Given the description of an element on the screen output the (x, y) to click on. 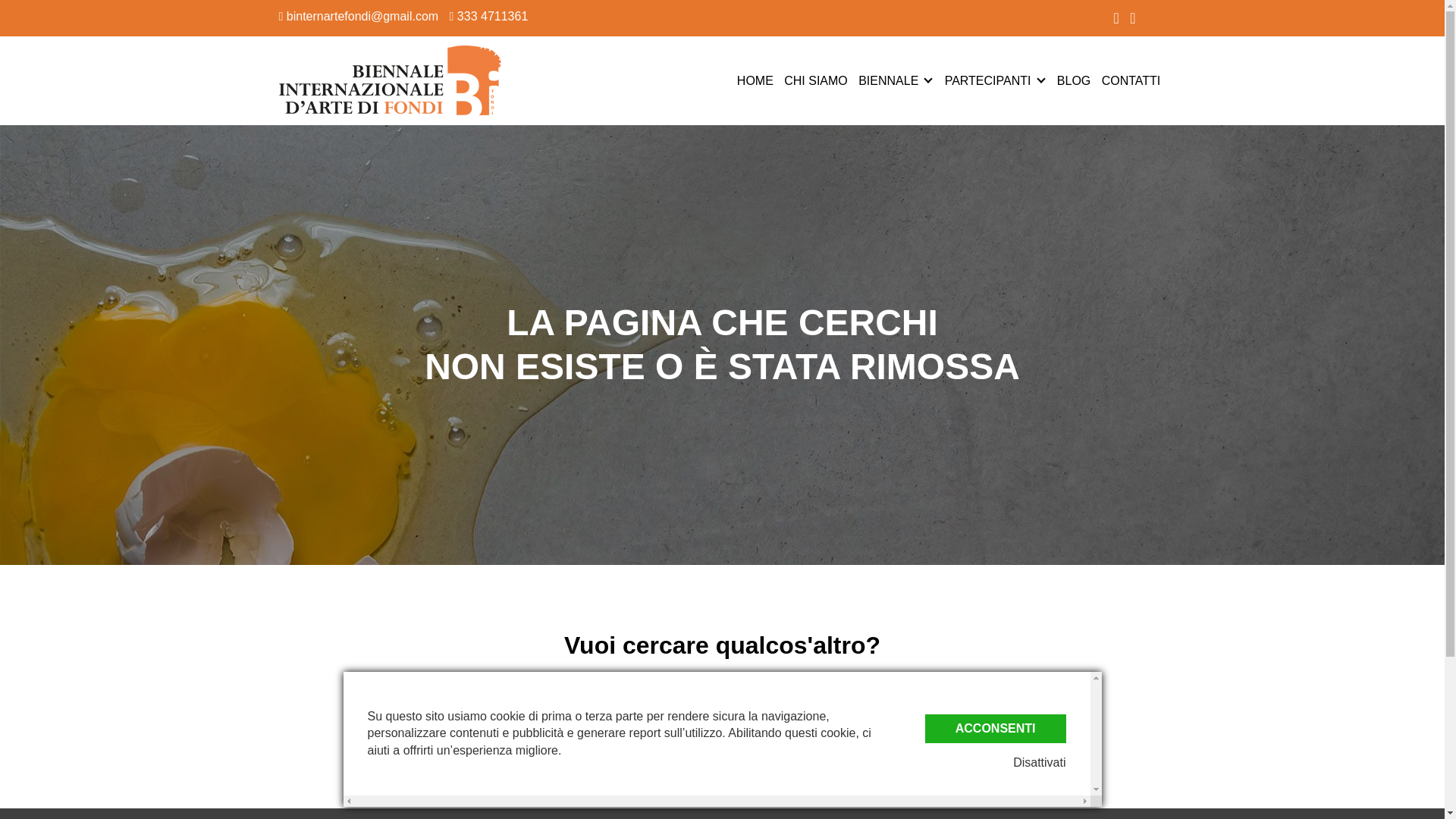
BLOG (1073, 80)
PARTECIPANTI (987, 80)
Email (359, 15)
CONTATTI (1131, 80)
HOME (755, 80)
333 4711361 (488, 15)
CHI SIAMO (815, 80)
Chiamaci (488, 15)
Cerca (721, 748)
Cerca (721, 748)
BIENNALE (888, 80)
